Given the description of an element on the screen output the (x, y) to click on. 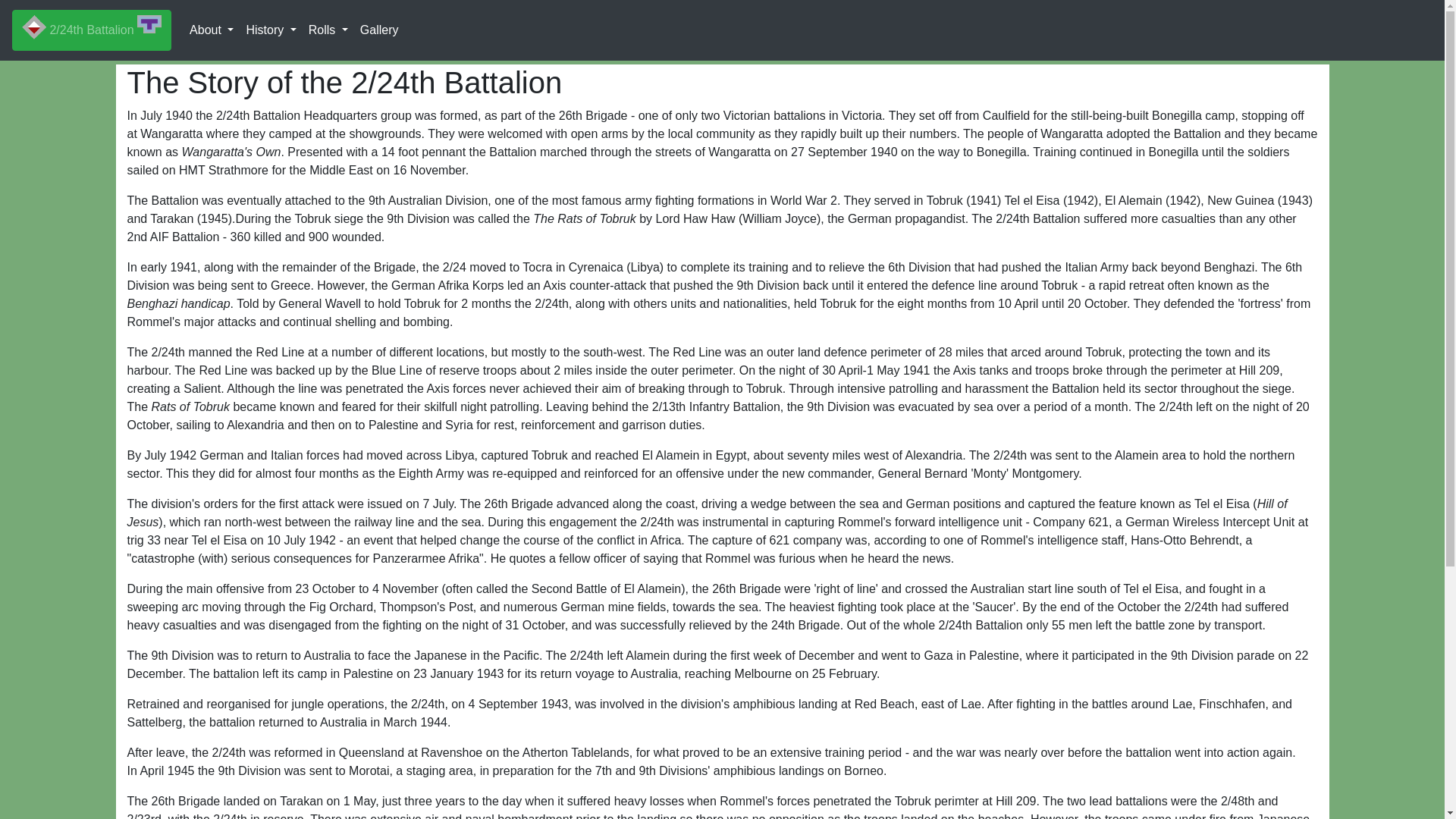
2/24th Battalion Element type: text (91, 30)
About Element type: text (211, 30)
Rolls Element type: text (328, 30)
Gallery Element type: text (379, 30)
History Element type: text (270, 30)
2/24th Battalion Element type: text (91, 29)
